Given the description of an element on the screen output the (x, y) to click on. 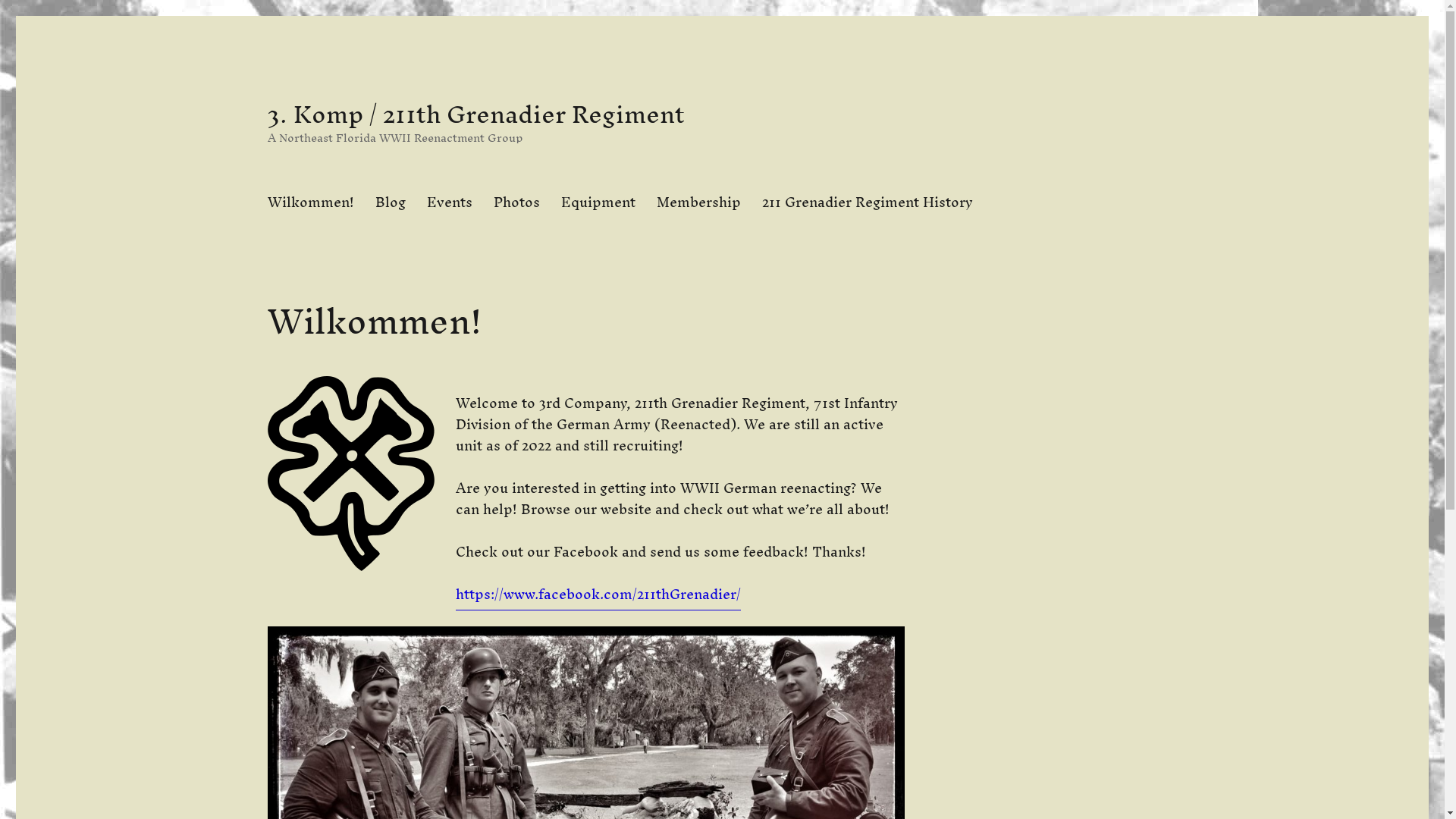
Blog Element type: text (389, 201)
211 Grenadier Regiment History Element type: text (866, 201)
Events Element type: text (448, 201)
https://www.facebook.com/211thGrenadier/ Element type: text (597, 593)
3. Komp / 211th Grenadier Regiment Element type: text (475, 113)
Membership Element type: text (698, 201)
Photos Element type: text (515, 201)
Equipment Element type: text (598, 201)
Wilkommen! Element type: text (310, 201)
